Given the description of an element on the screen output the (x, y) to click on. 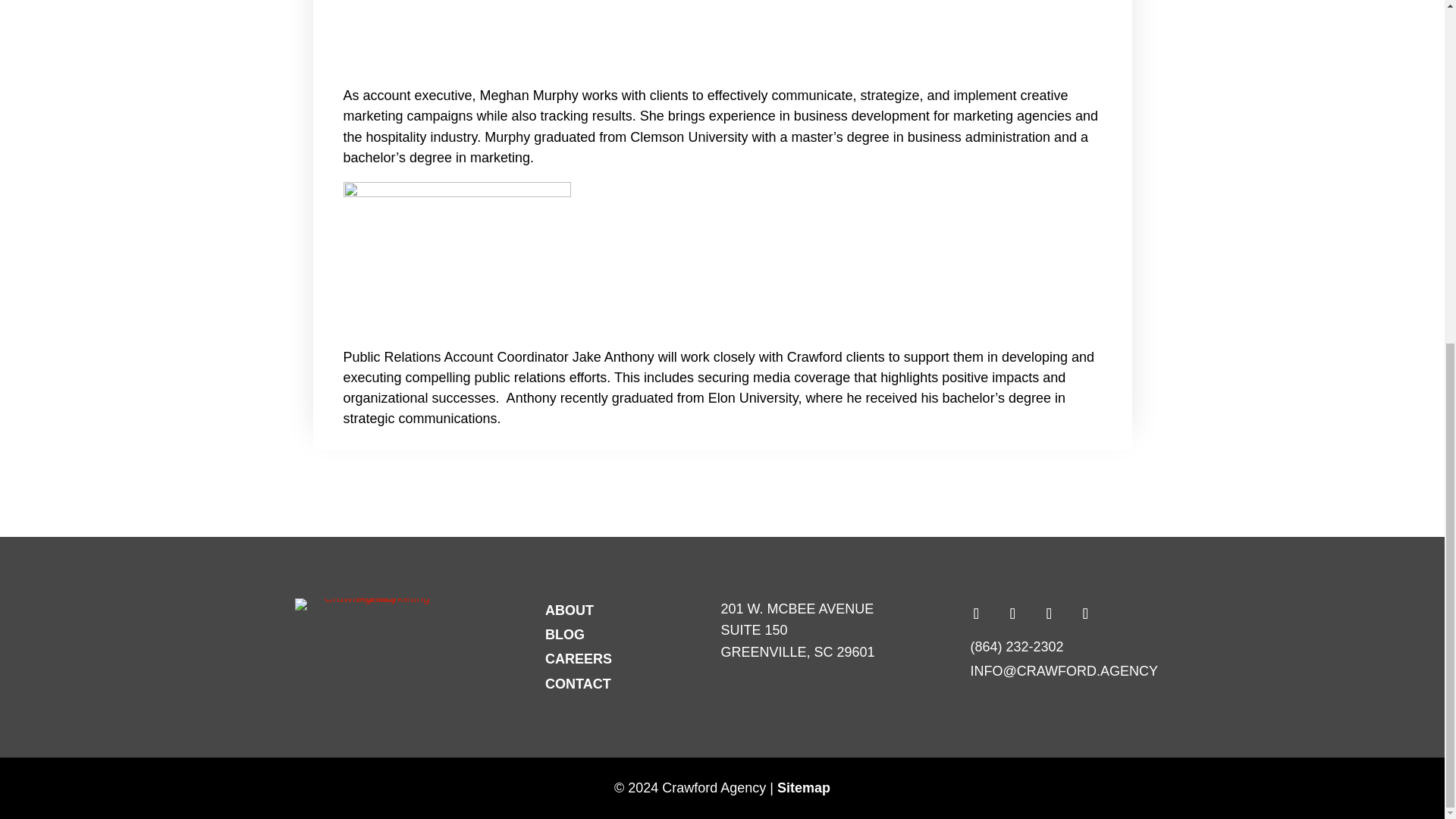
CA-lockup-2c-light-gray (370, 604)
Follow on LinkedIn (1085, 613)
Follow on Facebook (975, 613)
Sitemap (803, 787)
BLOG (797, 630)
ABOUT (564, 634)
CAREERS (569, 610)
CONTACT (577, 658)
Follow on X (577, 683)
Follow on Instagram (1048, 613)
